Given the description of an element on the screen output the (x, y) to click on. 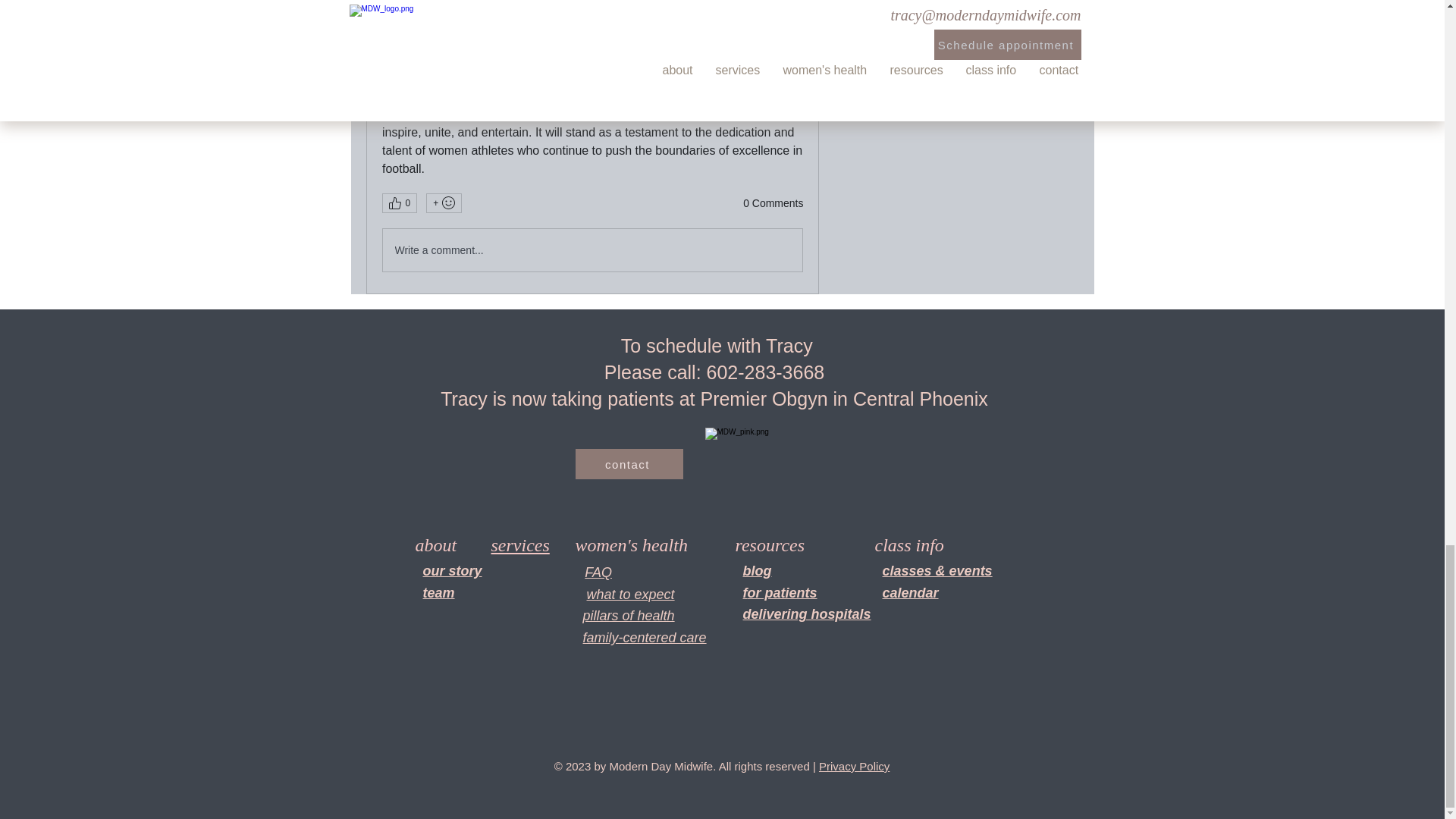
0 Comments (772, 203)
Write a comment... (591, 250)
